Given the description of an element on the screen output the (x, y) to click on. 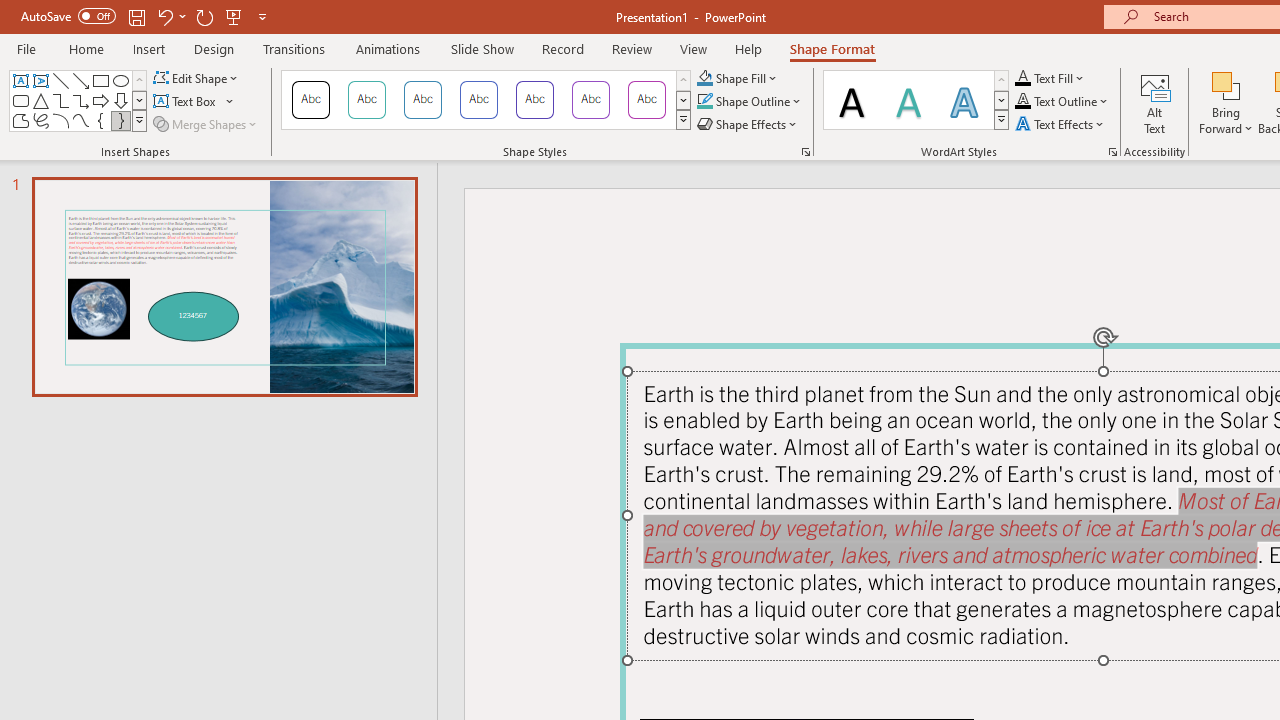
Text Fill (1050, 78)
Undo (164, 15)
View (693, 48)
Colored Outline - Purple, Accent 4 (534, 100)
Shape Format (832, 48)
Customize Quick Access Toolbar (262, 15)
Connector: Elbow (60, 100)
Colored Outline - Blue, Accent 3 (478, 100)
Colored Outline - Pink, Accent 6 (646, 100)
Quick Styles (1001, 120)
Shape Fill Aqua, Accent 2 (704, 78)
From Beginning (234, 15)
Text Fill RGB(0, 0, 0) (1023, 78)
Fill: Teal, Accent color 1; Shadow (908, 100)
Shape Outline (749, 101)
